Given the description of an element on the screen output the (x, y) to click on. 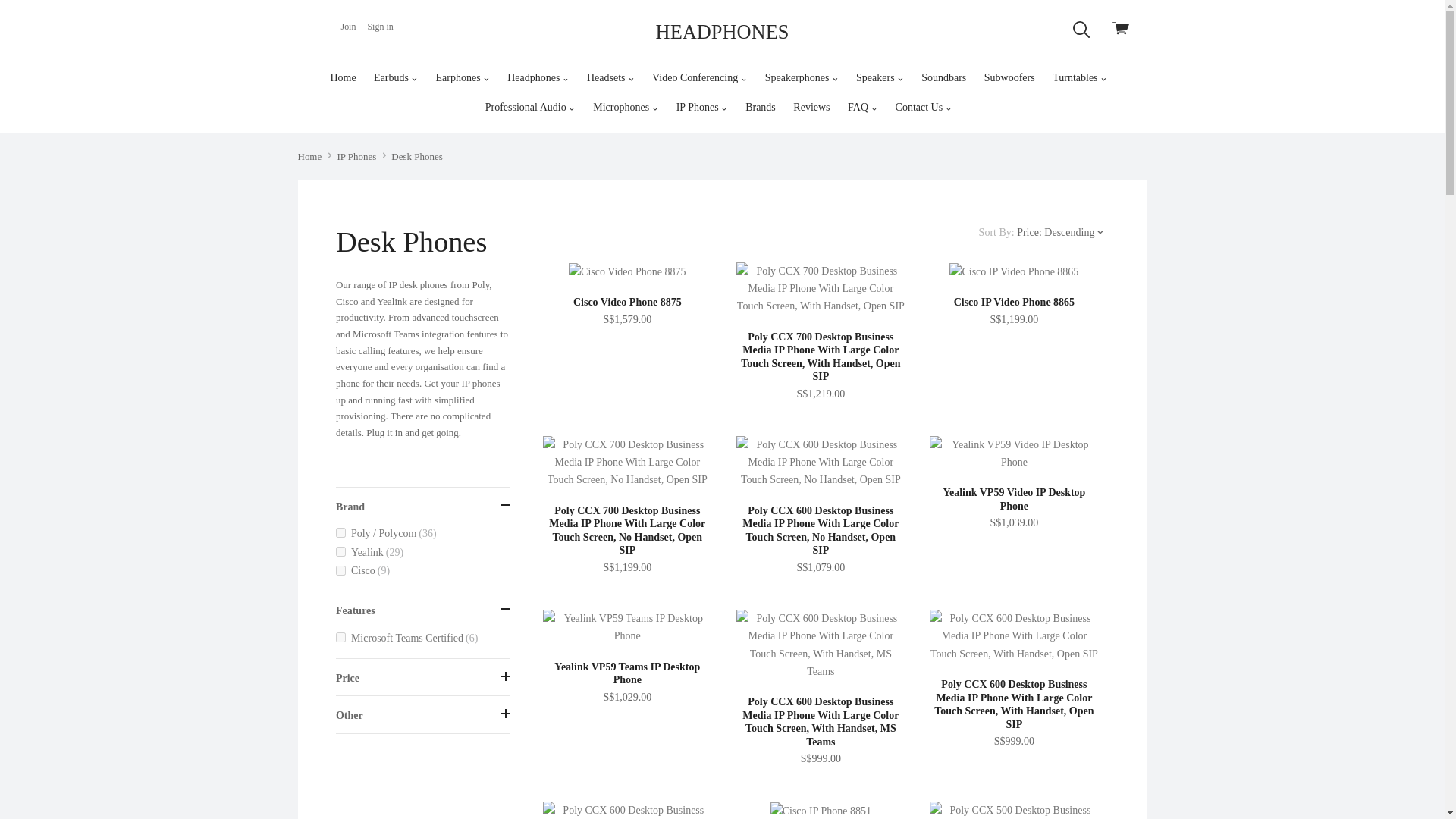
Sign in (379, 27)
on (341, 551)
Cisco (423, 570)
Earbuds (395, 77)
Home (342, 77)
Join (347, 27)
Yealink (423, 551)
HEADPHONES (722, 31)
Cisco Video Phone 8875 (627, 271)
on (341, 532)
View cart (1123, 30)
on (341, 637)
Microsoft Teams Certified (423, 637)
